Given the description of an element on the screen output the (x, y) to click on. 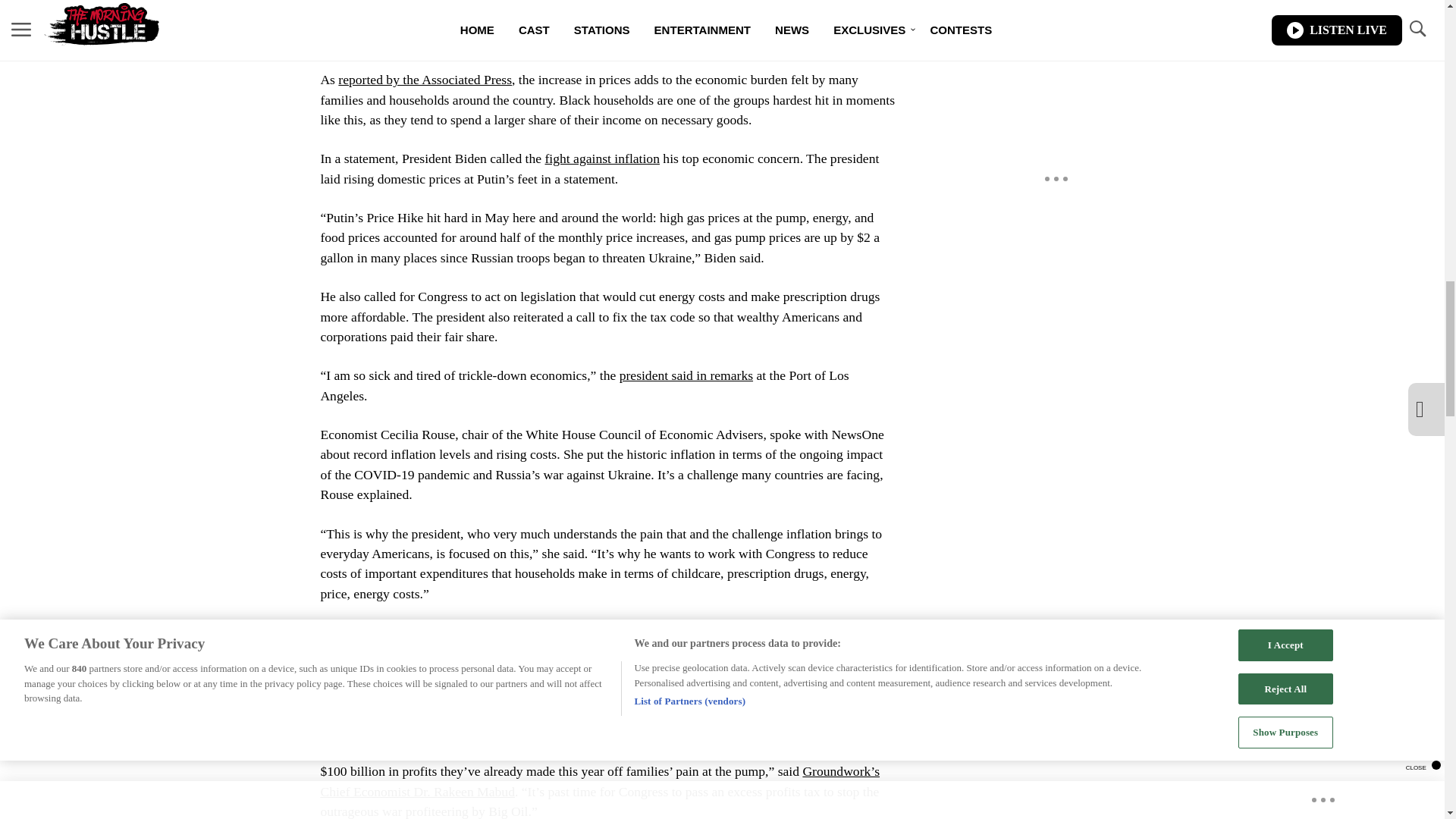
debunked the top five myths (442, 672)
reported by the Associated Press (424, 79)
president said in remarks (686, 375)
fight against inflation (601, 158)
